Given the description of an element on the screen output the (x, y) to click on. 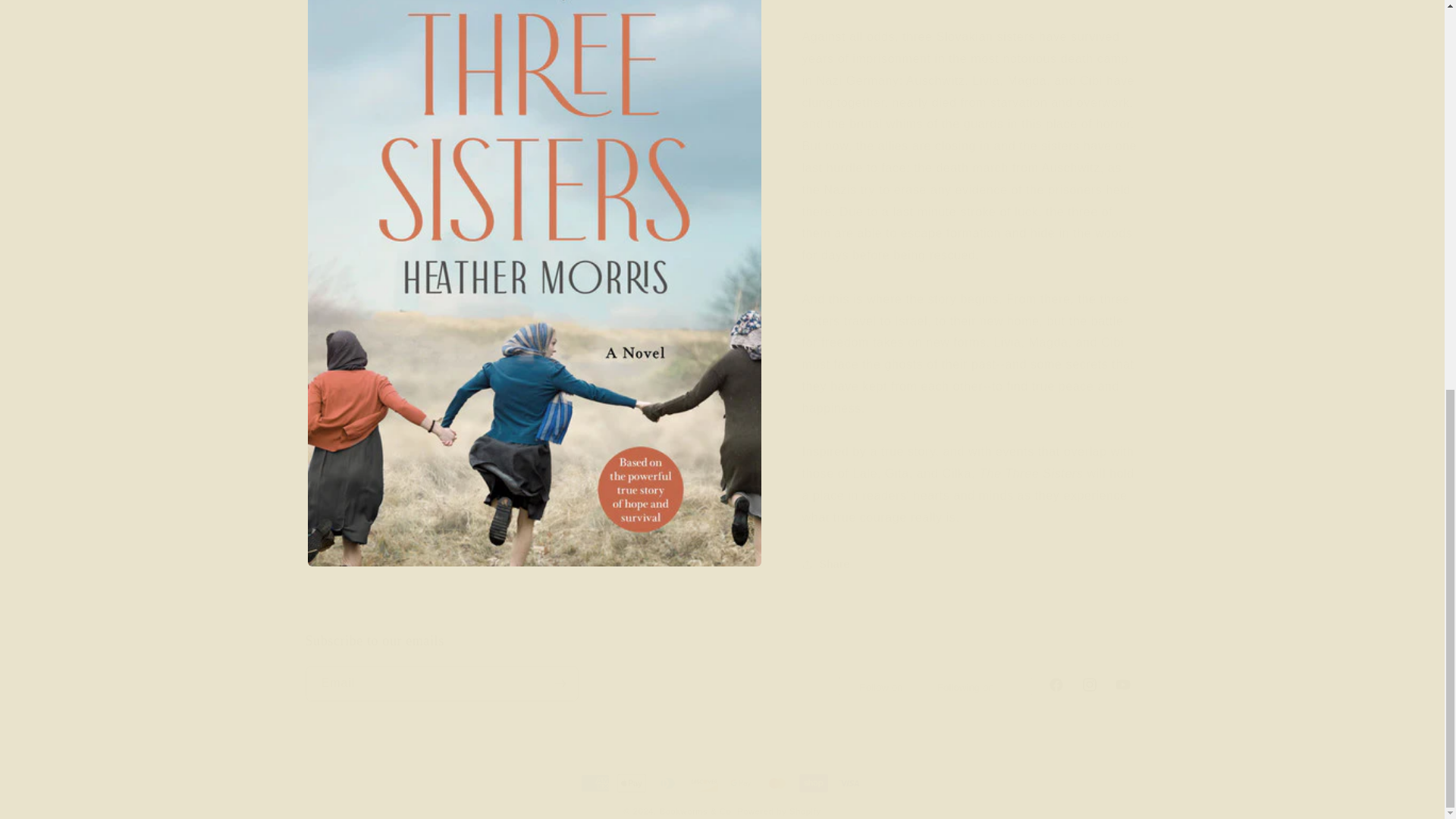
Open media 1 in modal (533, 45)
